Given the description of an element on the screen output the (x, y) to click on. 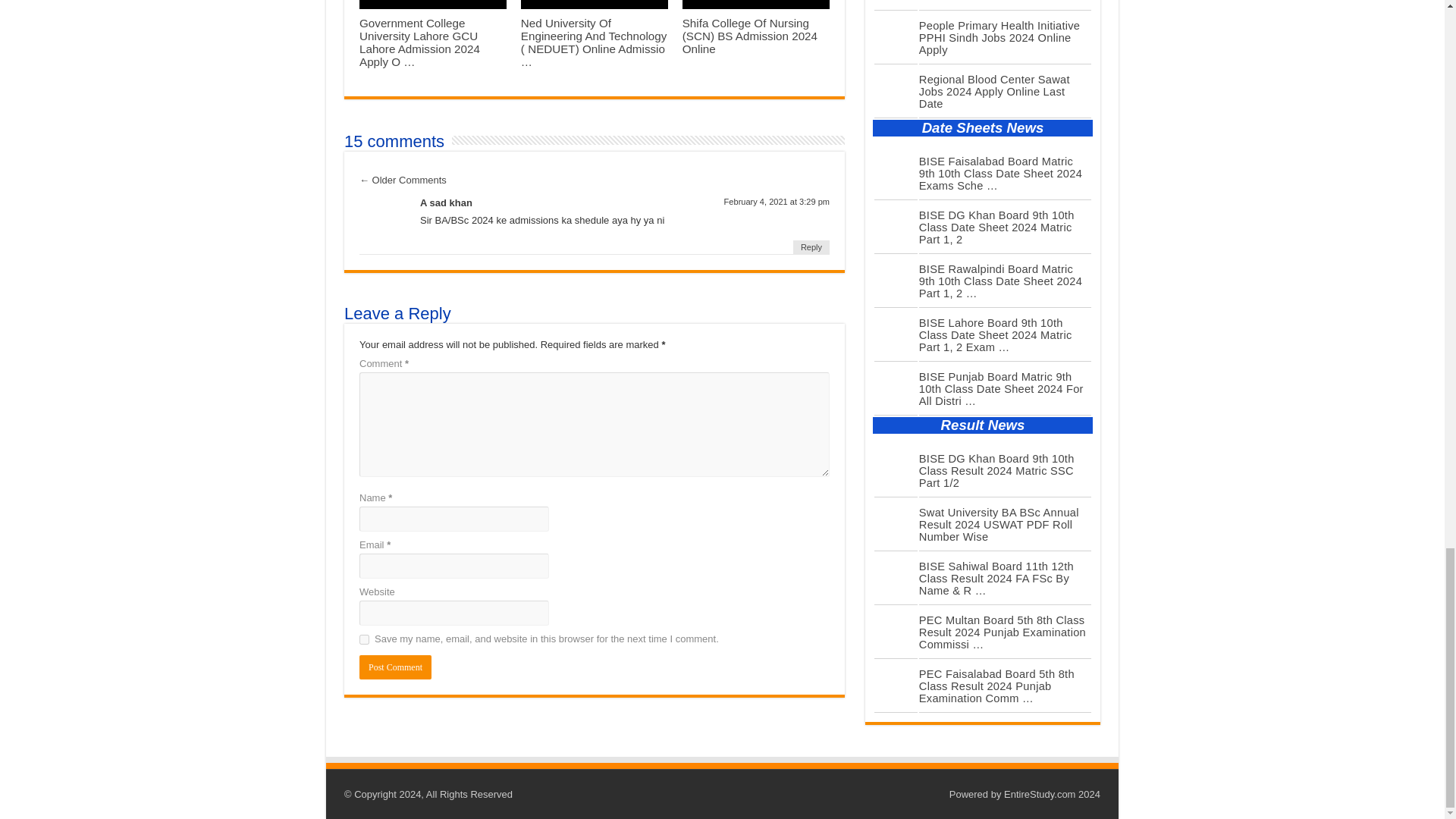
yes (364, 639)
Post Comment (394, 667)
